Given the description of an element on the screen output the (x, y) to click on. 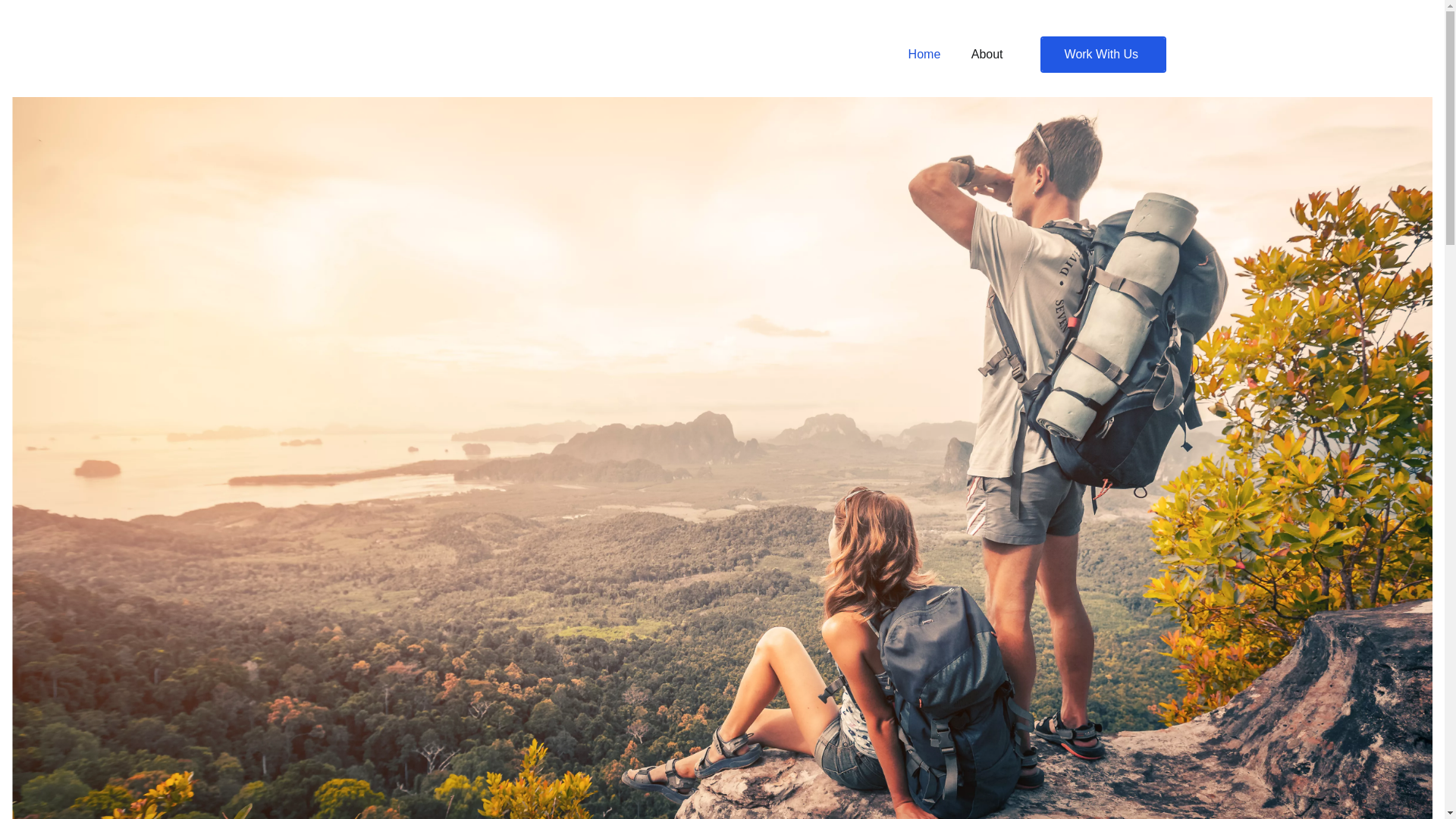
Work With Us  Element type: text (1103, 54)
About Element type: text (987, 54)
Home Element type: text (924, 54)
